Given the description of an element on the screen output the (x, y) to click on. 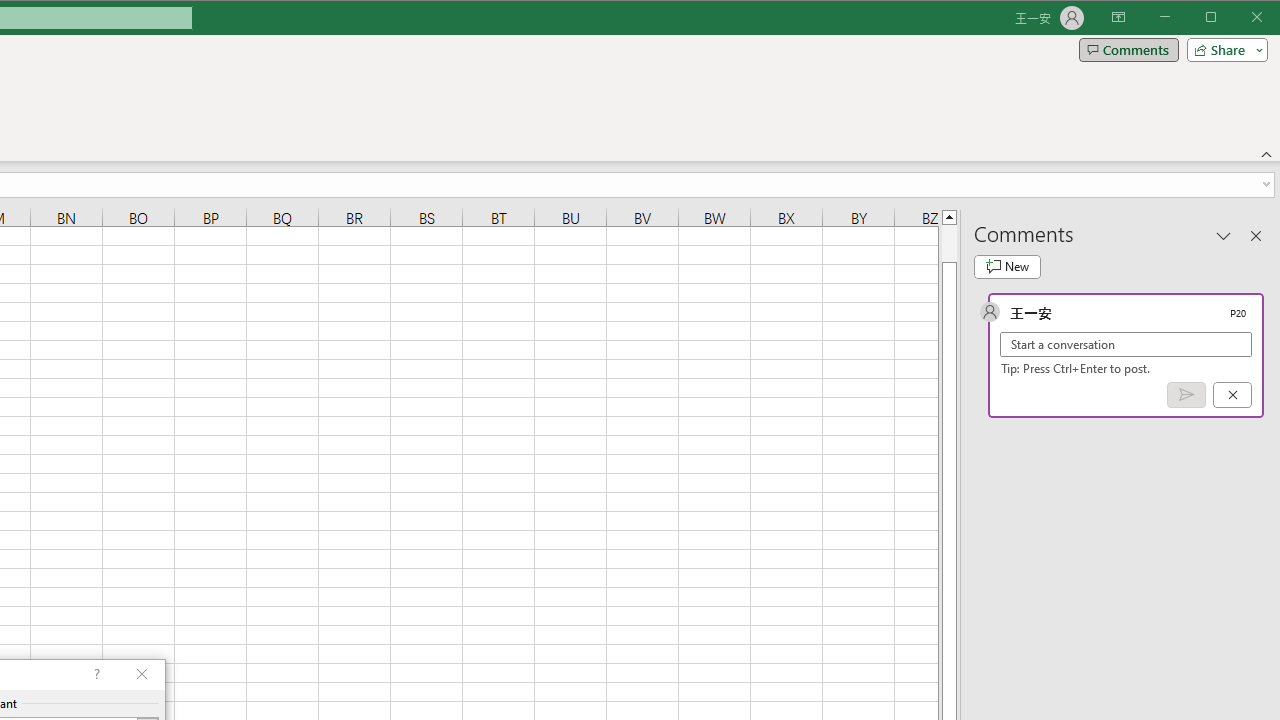
Cancel (1232, 395)
Post comment (Ctrl + Enter) (1186, 395)
Maximize (1239, 18)
New comment (1007, 266)
Start a conversation (1126, 344)
